Given the description of an element on the screen output the (x, y) to click on. 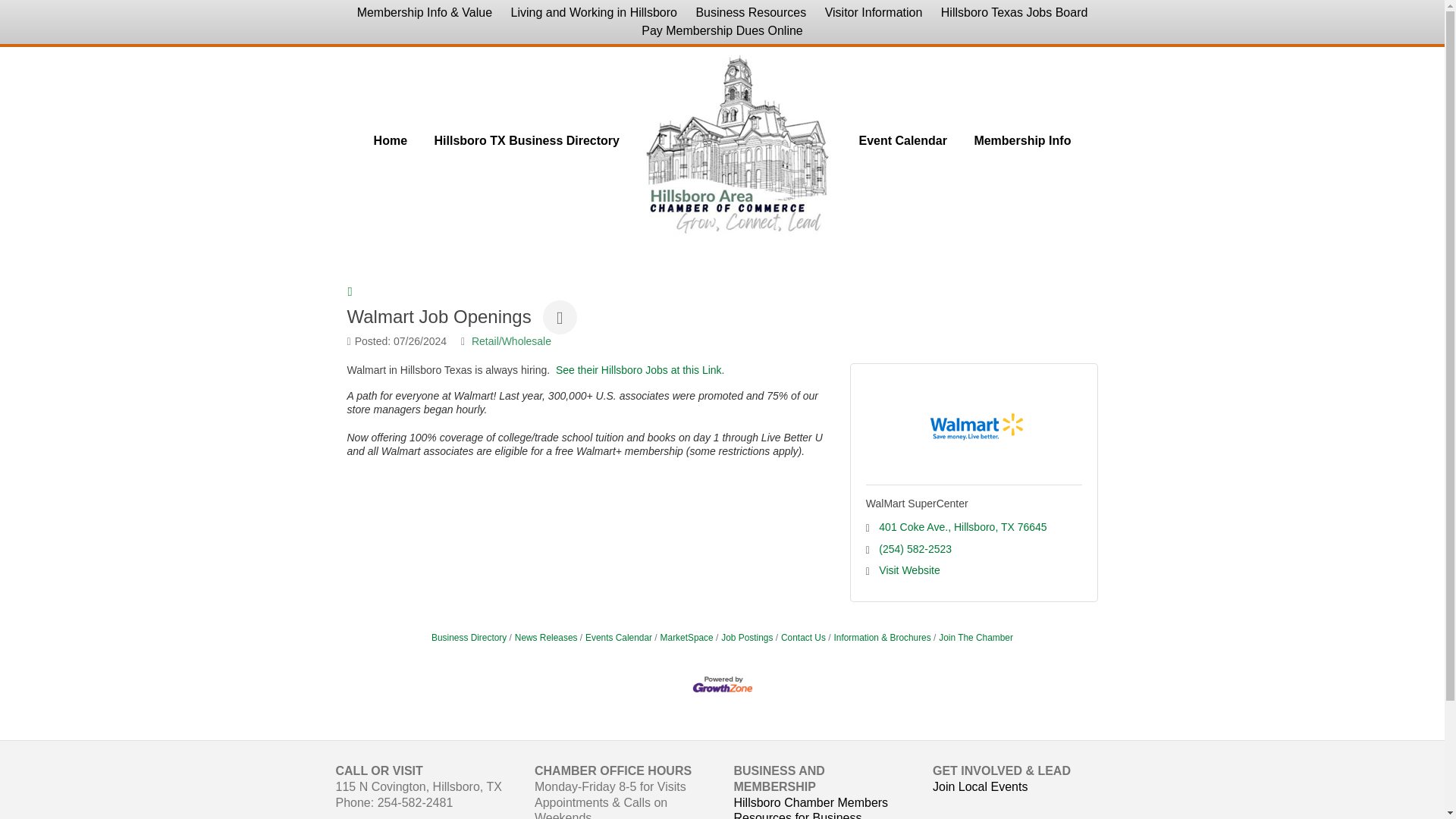
Membership Info (1021, 140)
Living and Working in Hillsboro (593, 13)
See their Hillsboro Jobs at this Link. (640, 369)
Hillsboro Texas Jobs Board (1014, 13)
Hillsboro TX Business Directory (526, 140)
WalMart SuperCenter (917, 503)
Pay Membership Dues Online (721, 31)
Visitor Information (873, 13)
Business Resources (750, 13)
Event Calendar (902, 140)
